Given the description of an element on the screen output the (x, y) to click on. 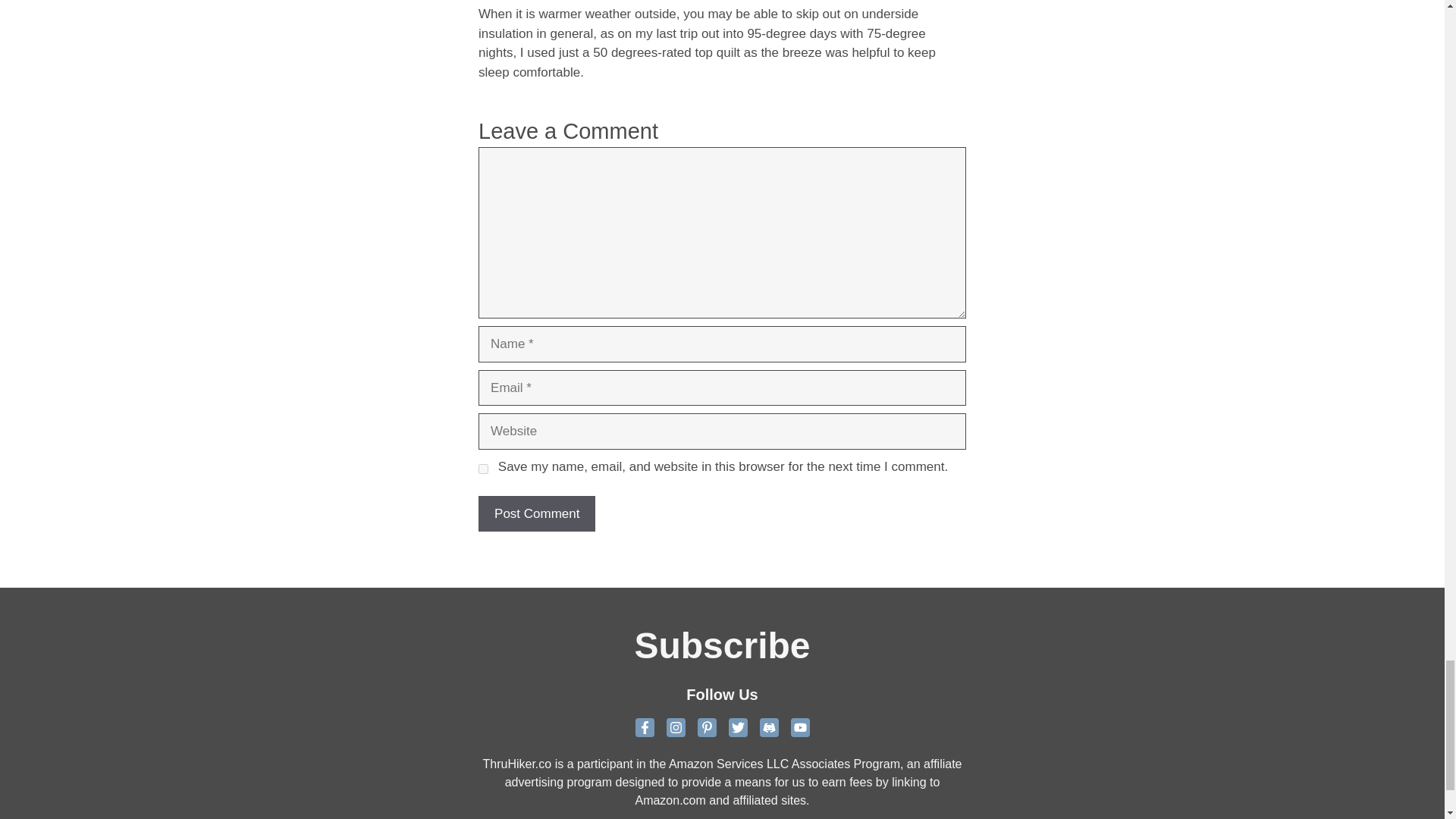
yes (483, 469)
Post Comment (537, 514)
Post Comment (537, 514)
